Given the description of an element on the screen output the (x, y) to click on. 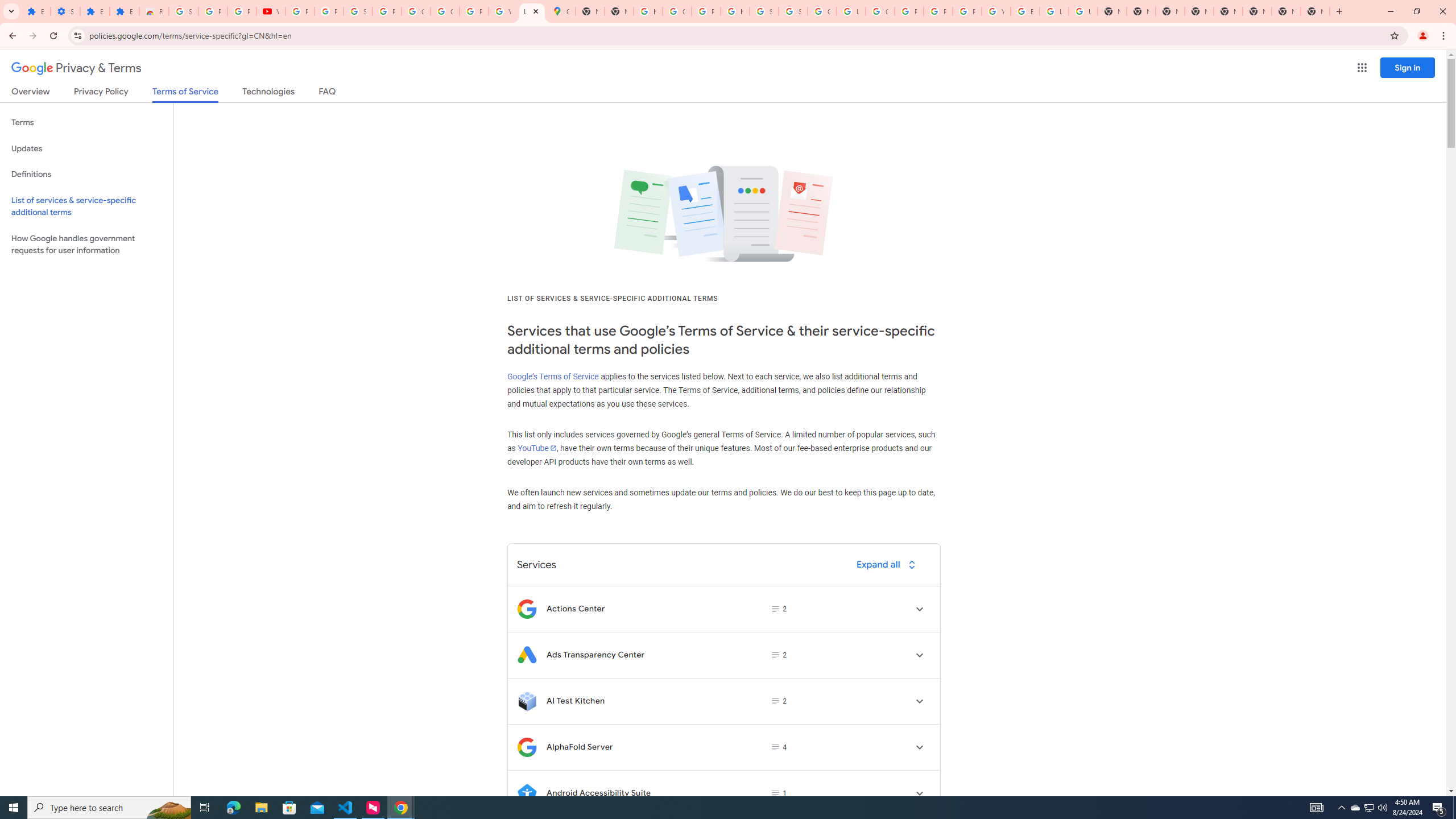
Privacy Help Center - Policies Help (908, 11)
Google Maps (560, 11)
YouTube (502, 11)
Sign in - Google Accounts (763, 11)
Sign in - Google Accounts (792, 11)
Logo for Ads Transparency Center (526, 654)
Sign in - Google Accounts (183, 11)
